Given the description of an element on the screen output the (x, y) to click on. 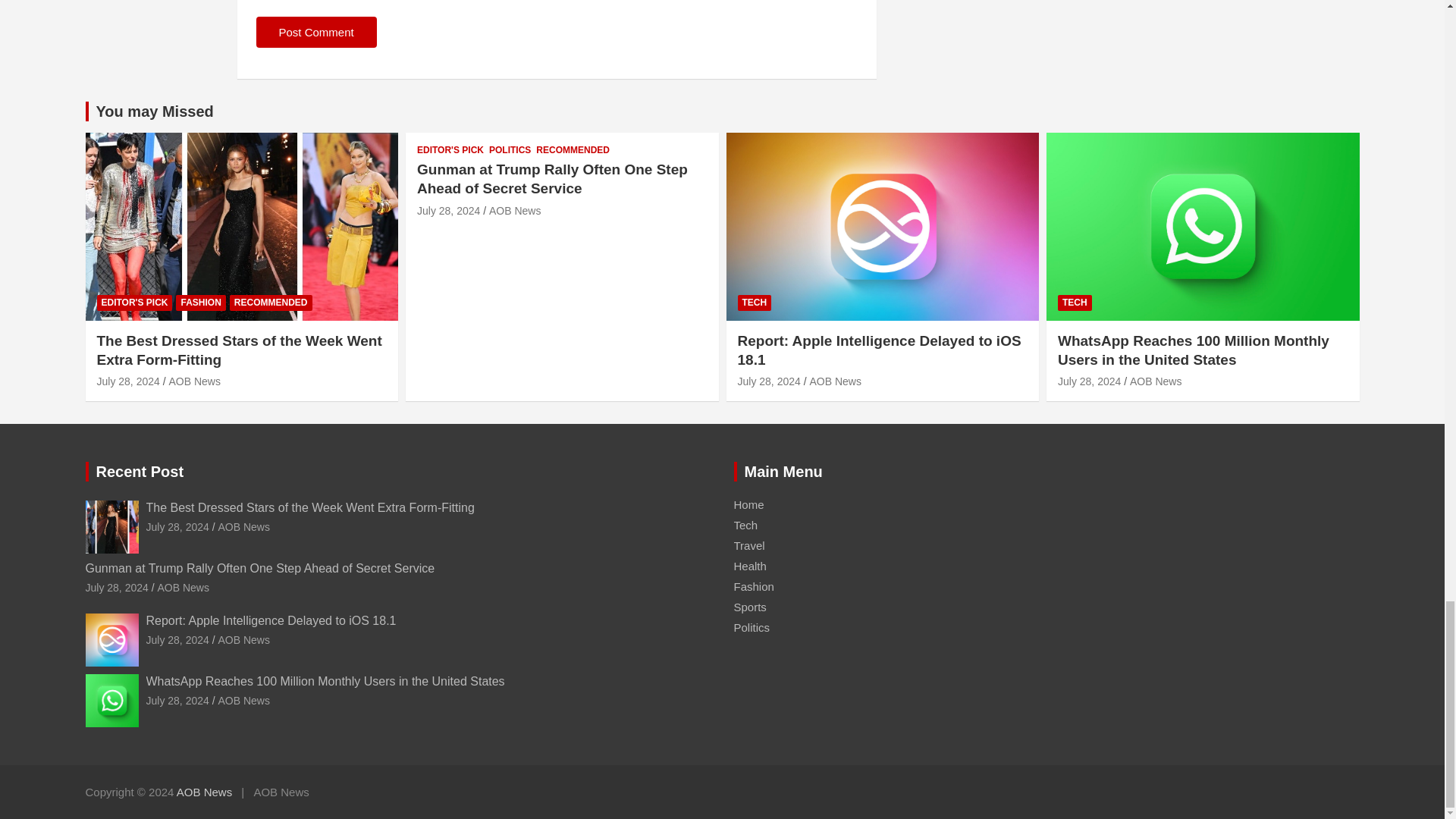
Report: Apple Intelligence Delayed to iOS 18.1 (767, 381)
Post Comment (316, 31)
Gunman at Trump Rally Often One Step Ahead of Secret Service (448, 209)
Post Comment (316, 31)
The Best Dressed Stars of the Week Went Extra Form-Fitting (128, 381)
